Given the description of an element on the screen output the (x, y) to click on. 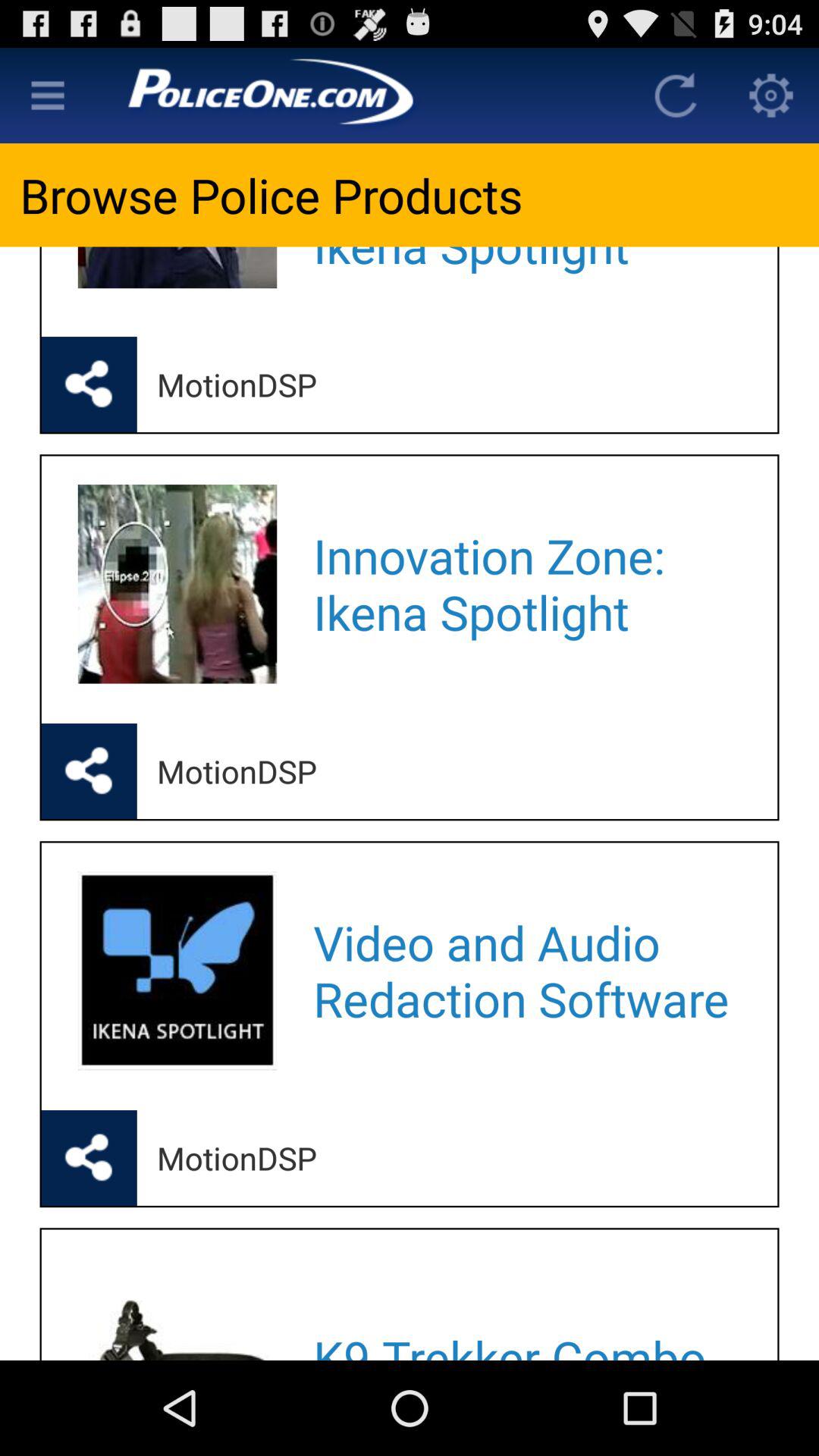
go to load (675, 95)
